Given the description of an element on the screen output the (x, y) to click on. 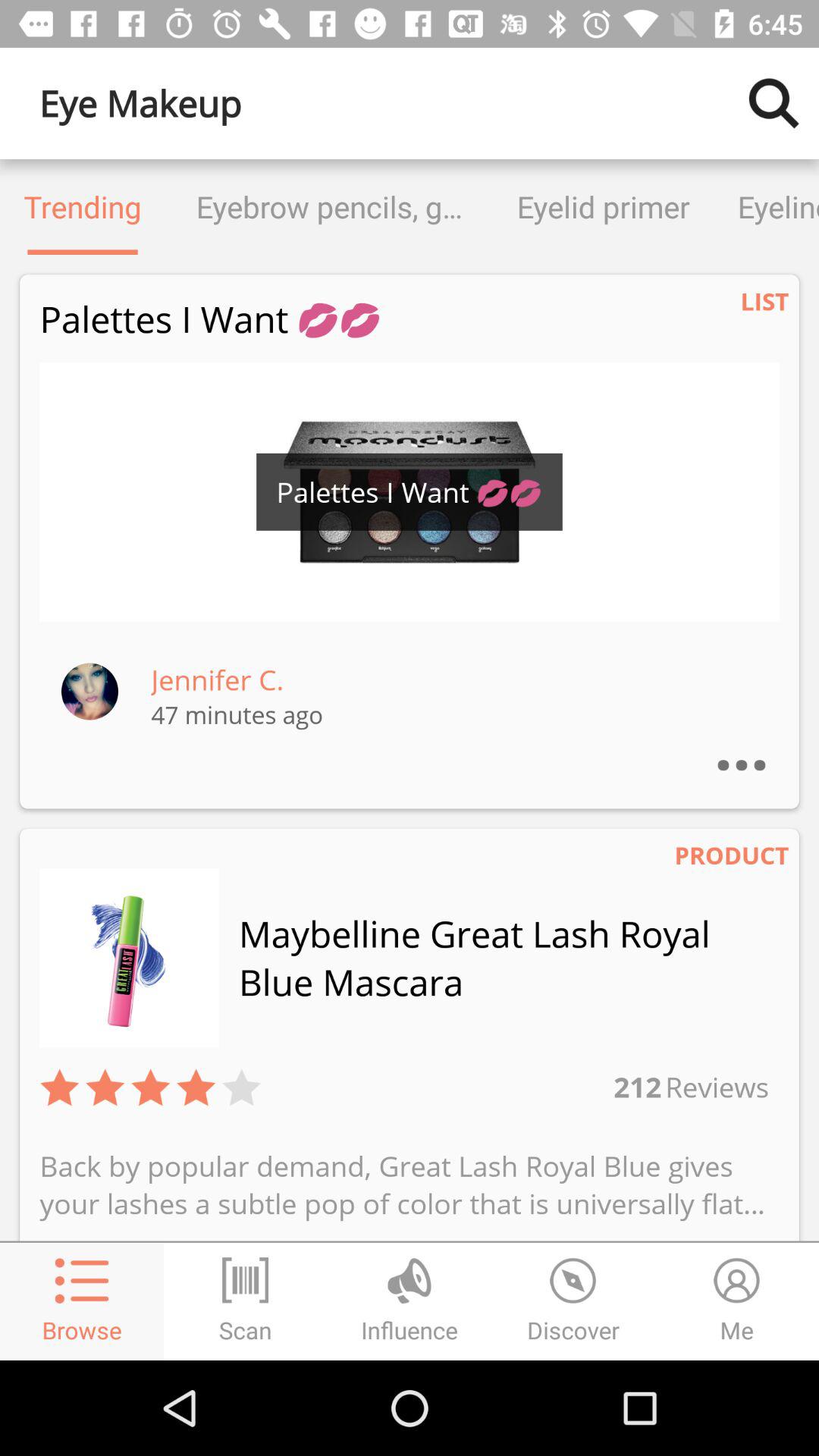
click icon to the left of the eyebrow pencils gels (82, 206)
